Given the description of an element on the screen output the (x, y) to click on. 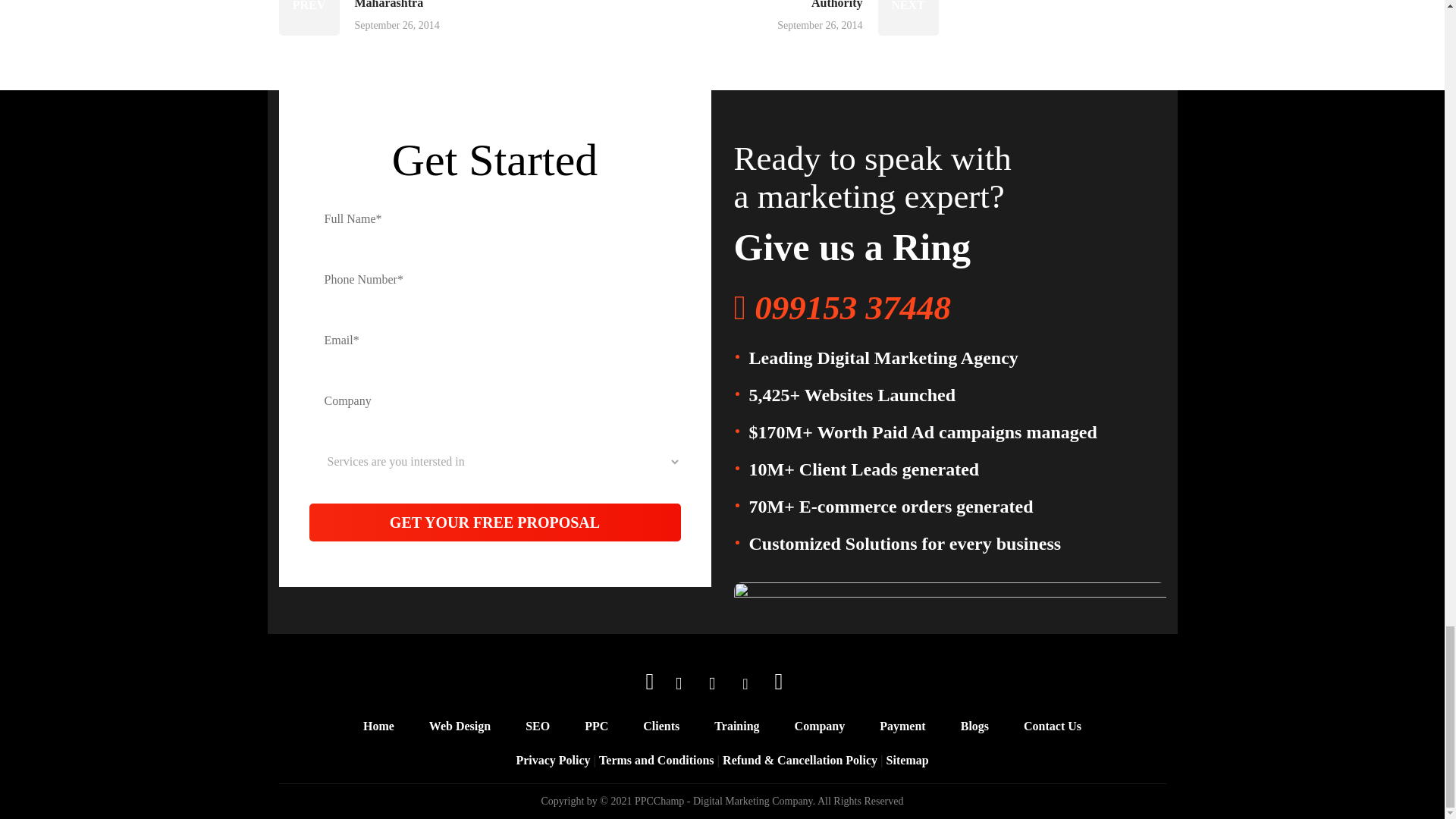
Tips to Increase Website Page Authority (821, 18)
Get Your Free Proposal (494, 522)
Seo services in  Mumbai Maharashtra (396, 18)
